Given the description of an element on the screen output the (x, y) to click on. 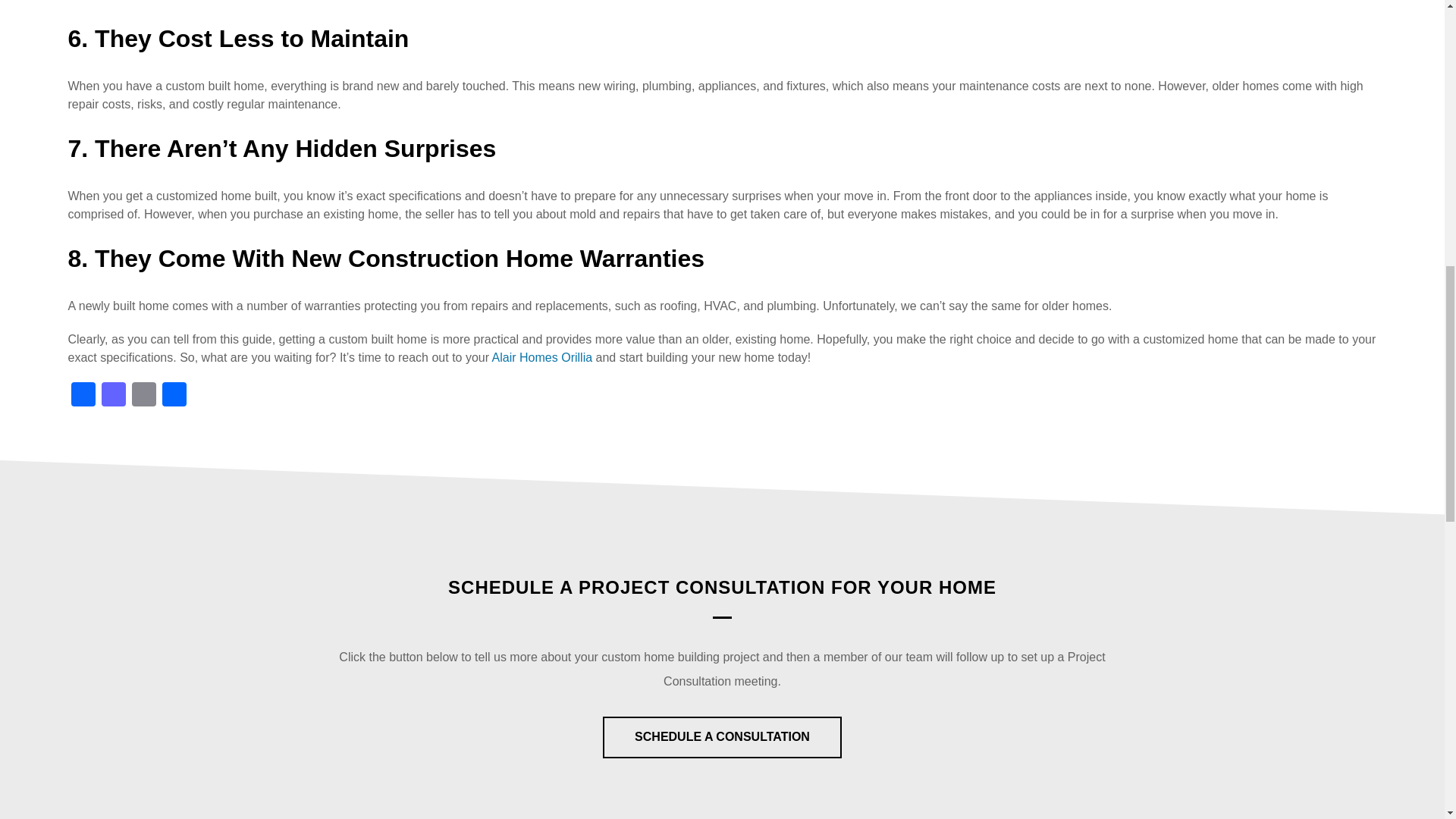
Mastodon (114, 396)
Mastodon (114, 396)
Alair Homes Orillia (542, 357)
Email (143, 396)
Facebook (83, 396)
SCHEDULE A CONSULTATION (721, 736)
Share (173, 396)
Facebook (83, 396)
Email (143, 396)
